Given the description of an element on the screen output the (x, y) to click on. 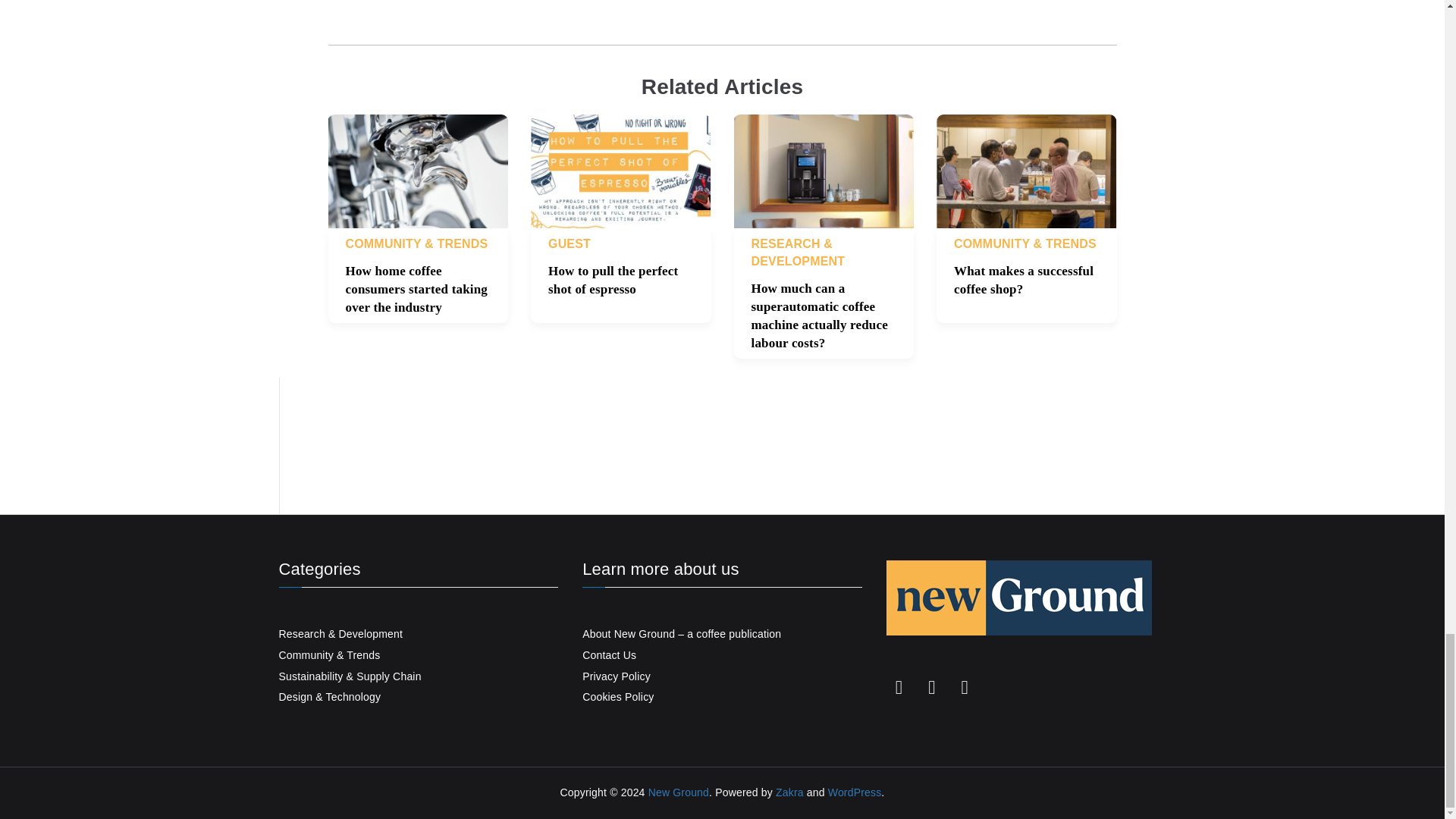
How home coffee consumers started taking over the industry (416, 288)
New Ground (678, 792)
Zakra (789, 792)
How to pull the perfect shot of espresso (613, 279)
WordPress (855, 792)
